Given the description of an element on the screen output the (x, y) to click on. 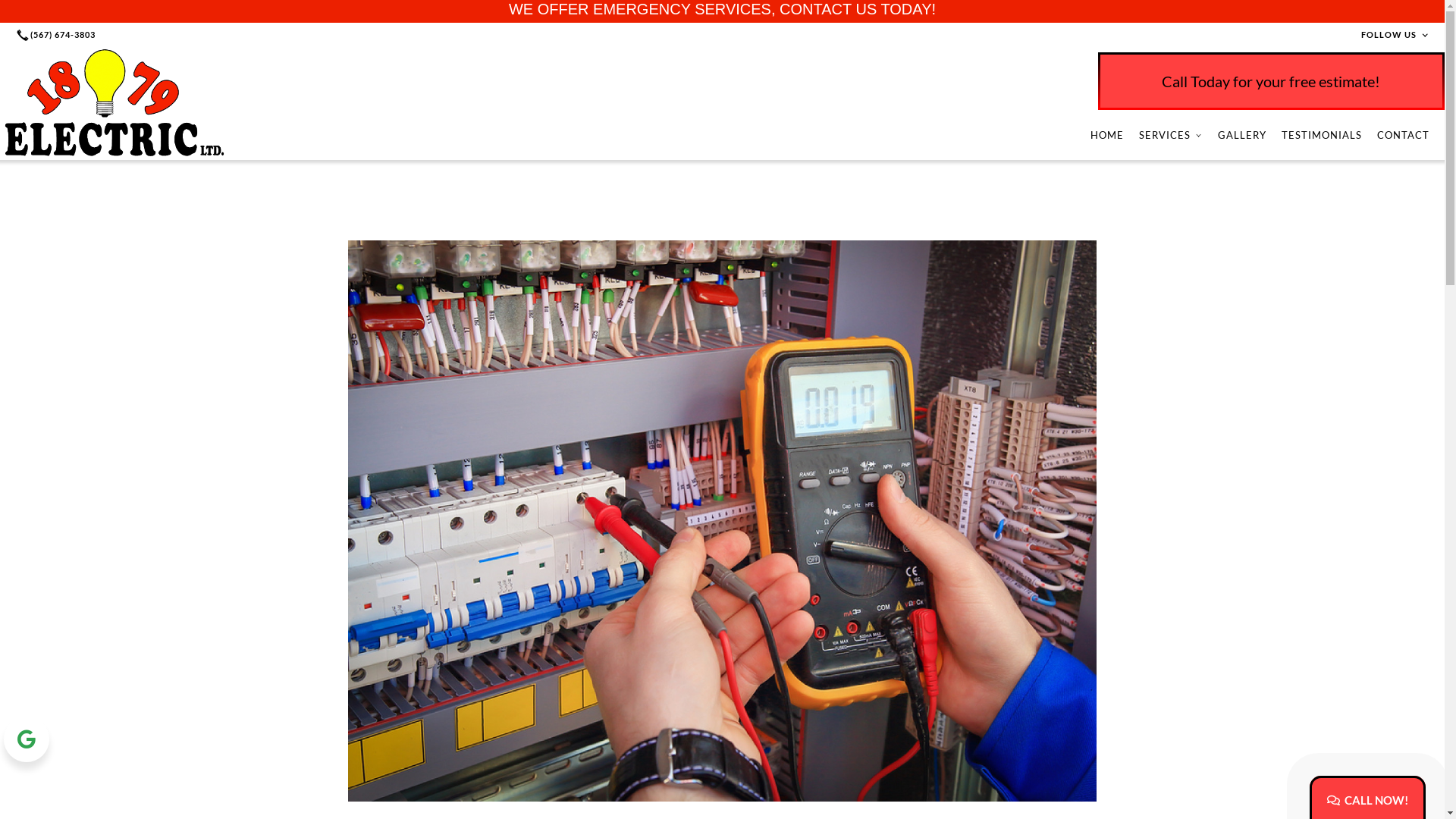
TESTIMONIALS Element type: text (1321, 134)
CONTACT Element type: text (1403, 134)
GALLERY Element type: text (1241, 134)
Call Today for your free estimate! Element type: text (1270, 81)
(567) 674-3803 Element type: hover (57, 34)
  CALL NOW! Element type: text (1367, 800)
HOME Element type: text (1106, 134)
Call Today for your free estimate! Element type: text (1010, 80)
